Given the description of an element on the screen output the (x, y) to click on. 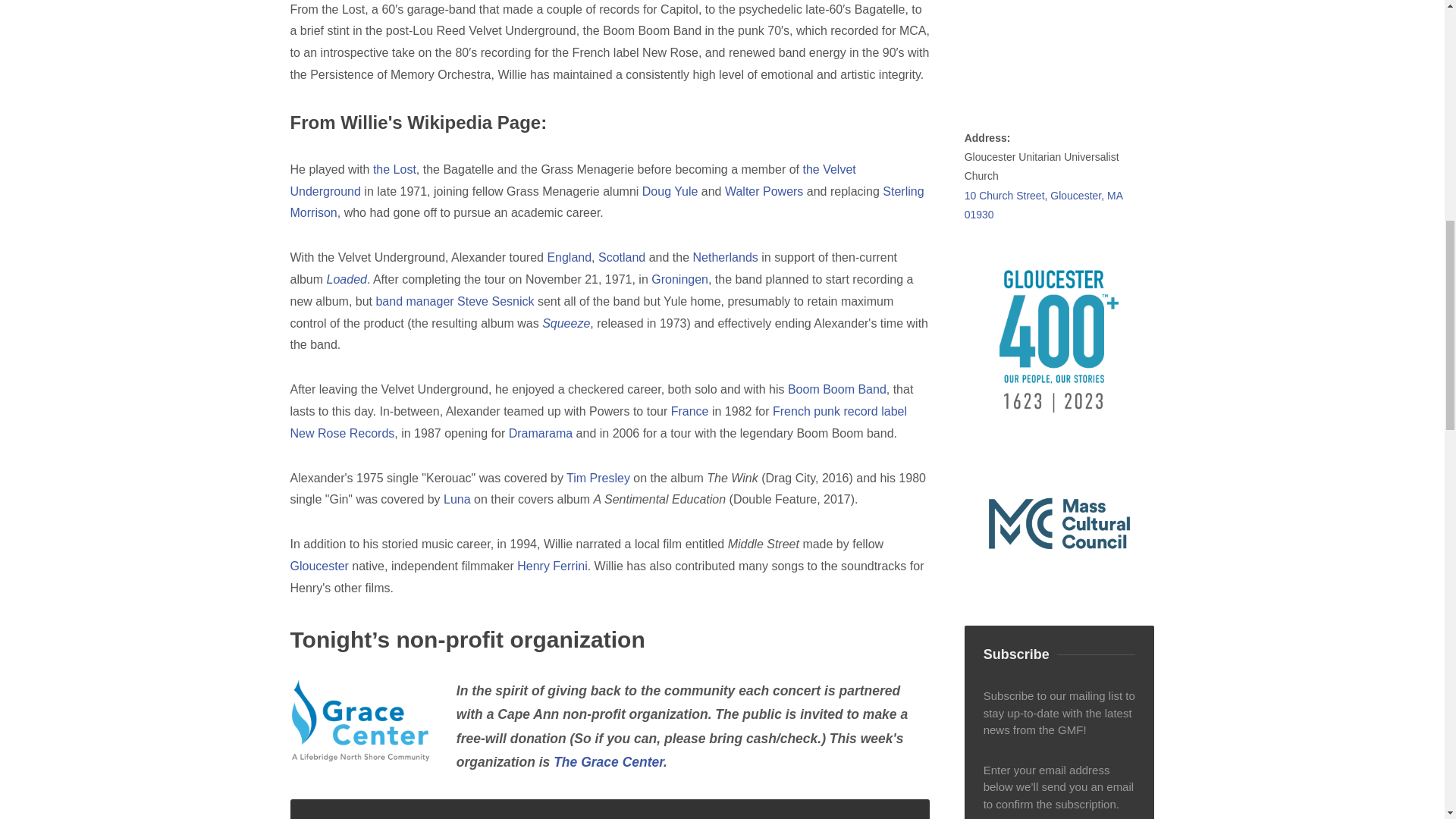
England (569, 256)
Groningen (678, 278)
Netherlands (725, 256)
Scotland (621, 256)
Punk rock (826, 410)
band manager (413, 300)
France (690, 410)
France (791, 410)
Sterling Morrison (606, 202)
Doug Yule (670, 191)
The Velvet Underground (572, 180)
Doug Yule (670, 191)
Walter Powers (764, 191)
Steve Sesnick (495, 300)
Squeeze (565, 323)
